Given the description of an element on the screen output the (x, y) to click on. 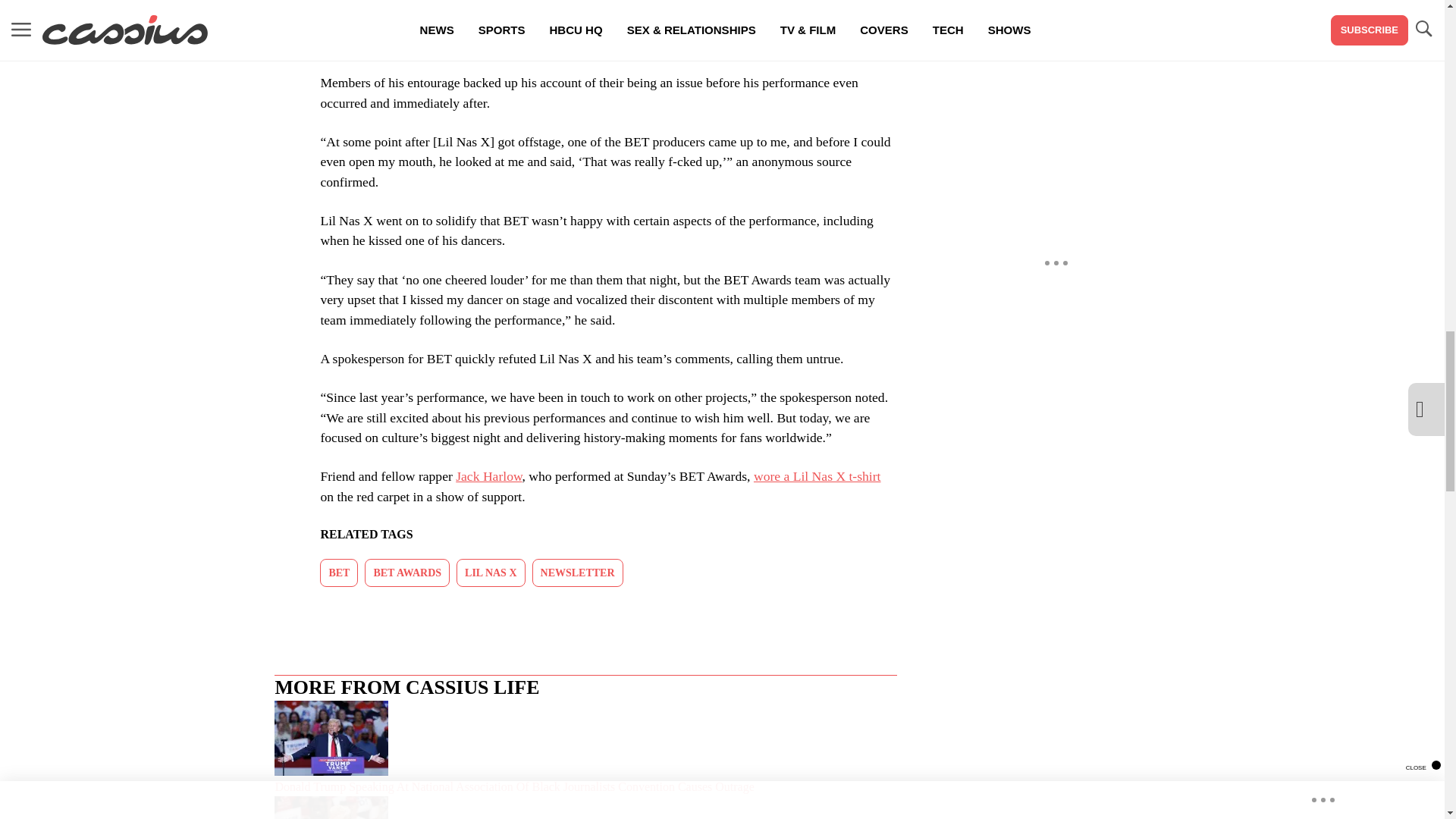
Jack Harlow (488, 476)
Media Playlist (990, 10)
wore a Lil Nas X t-shirt (817, 476)
LIL NAS X (490, 572)
BET (339, 572)
BET AWARDS (407, 572)
NEWSLETTER (577, 572)
